Given the description of an element on the screen output the (x, y) to click on. 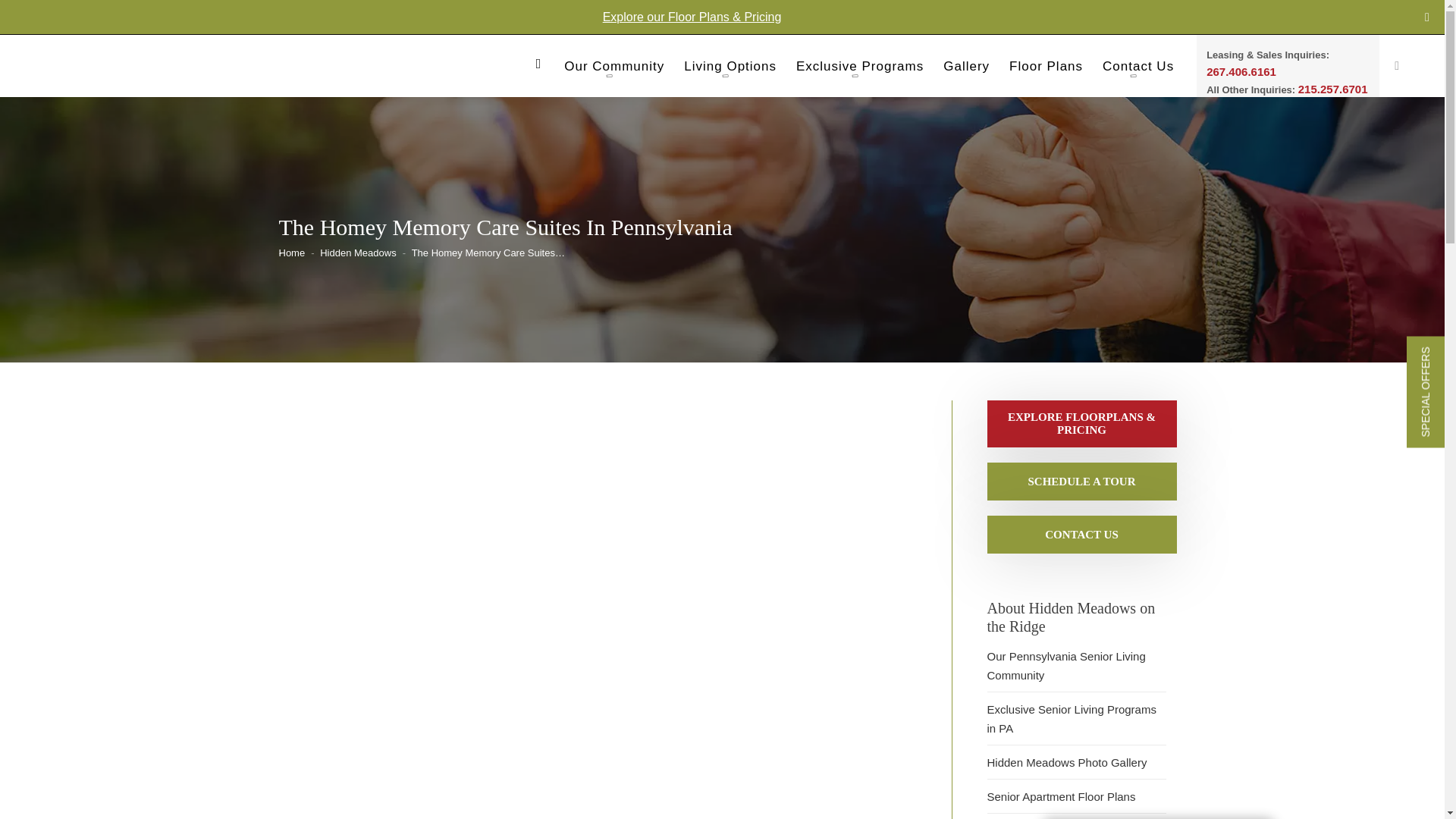
Schedule A Tour (1081, 481)
Living Options (730, 69)
267.406.6161 (1241, 71)
215.257.6701 (1333, 89)
Floor Plans (1046, 69)
Contact Us (1137, 69)
Facebook page opens in new window (1426, 17)
Exclusive Programs (859, 69)
Go! (24, 15)
Facebook page opens in new window (1426, 17)
